Given the description of an element on the screen output the (x, y) to click on. 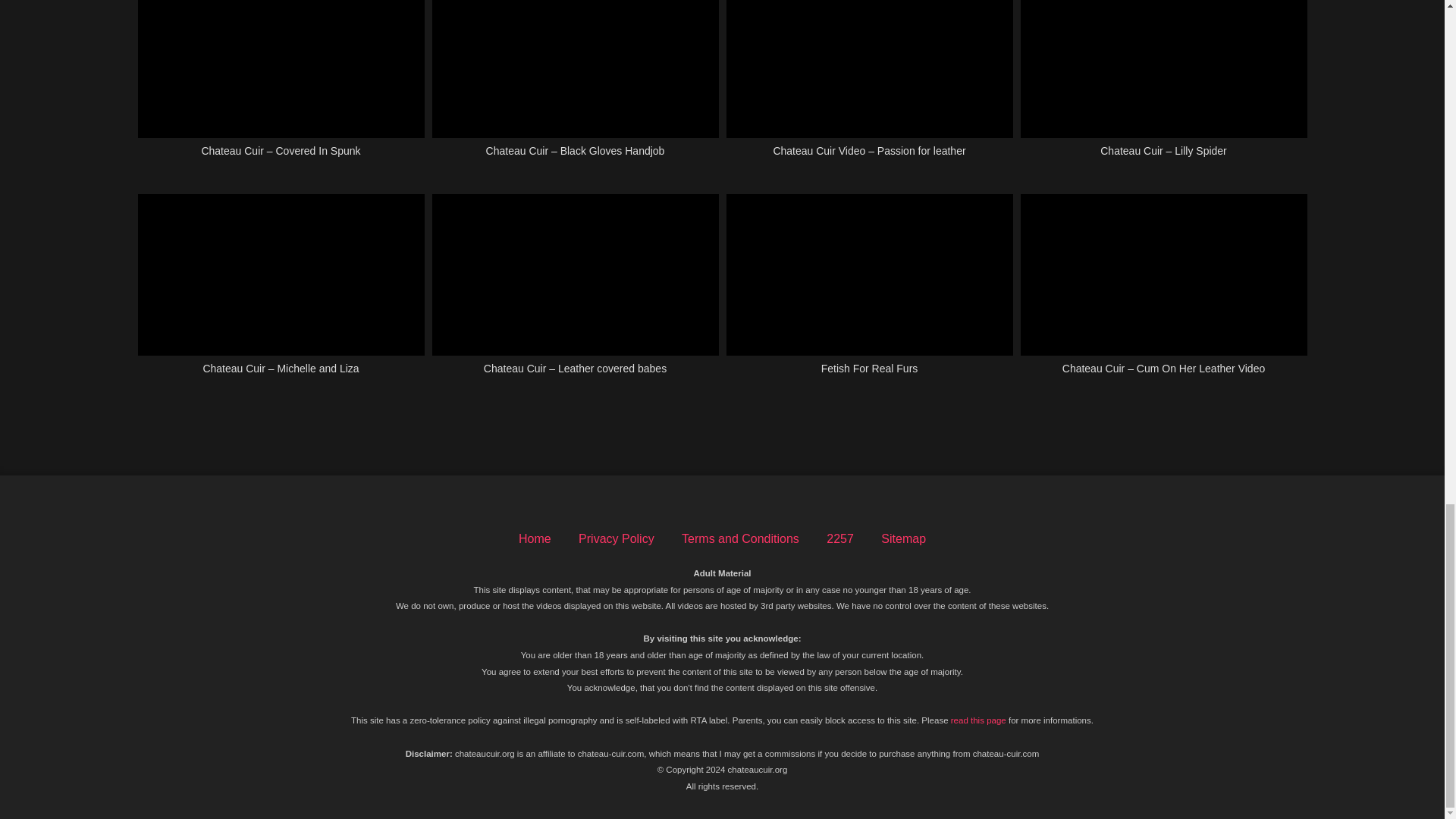
Sitemap (903, 538)
Privacy Policy (615, 538)
read this page (978, 719)
2257 (840, 538)
Home (534, 538)
Fetish For Real Furs (869, 293)
Terms and Conditions (740, 538)
Fetish For Real Furs (869, 293)
